Given the description of an element on the screen output the (x, y) to click on. 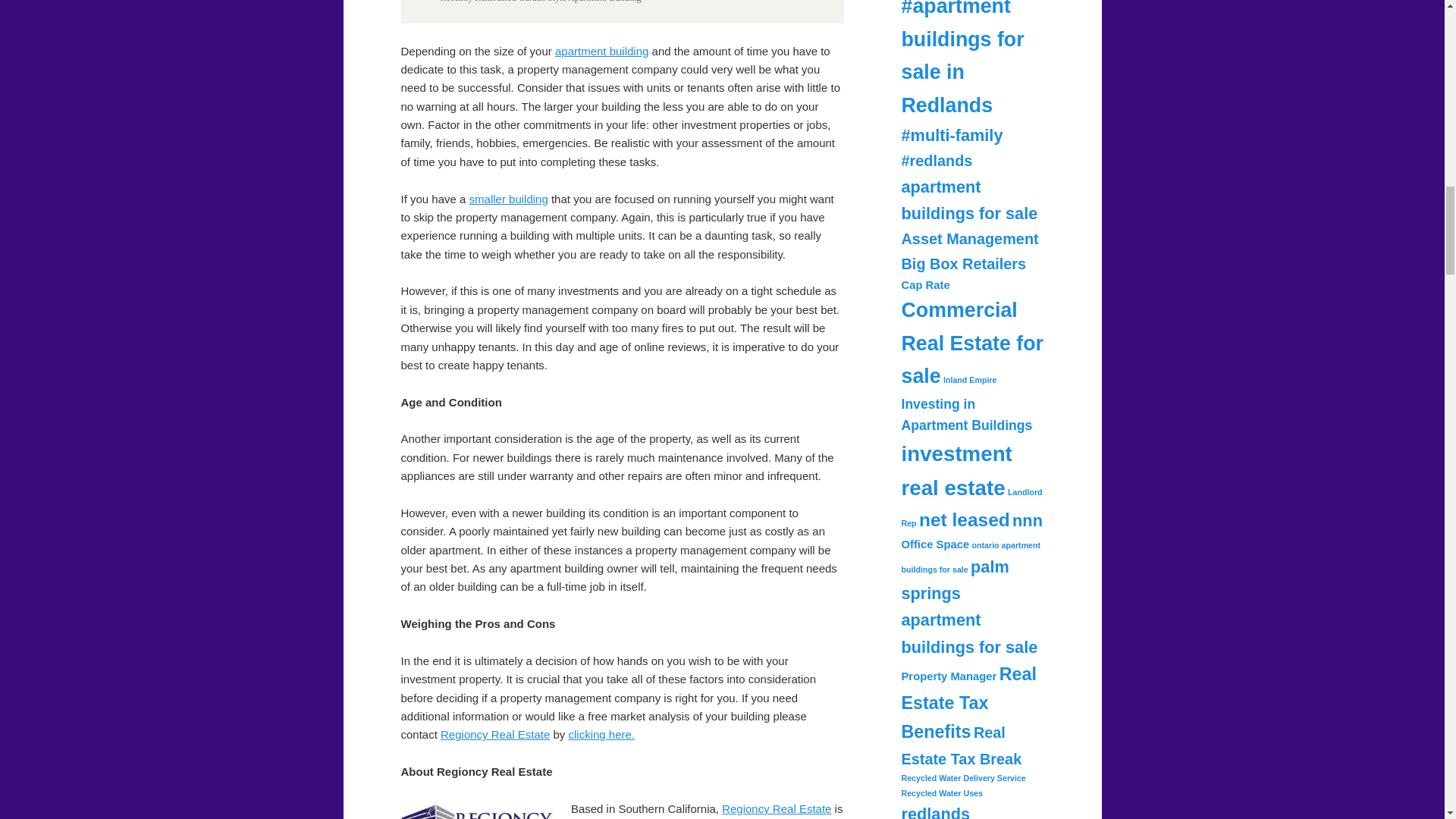
Regioncy Real Estate (776, 808)
smaller building (508, 198)
clicking here. (600, 734)
Regioncy Real Estate (495, 734)
apartment building (600, 51)
